Given the description of an element on the screen output the (x, y) to click on. 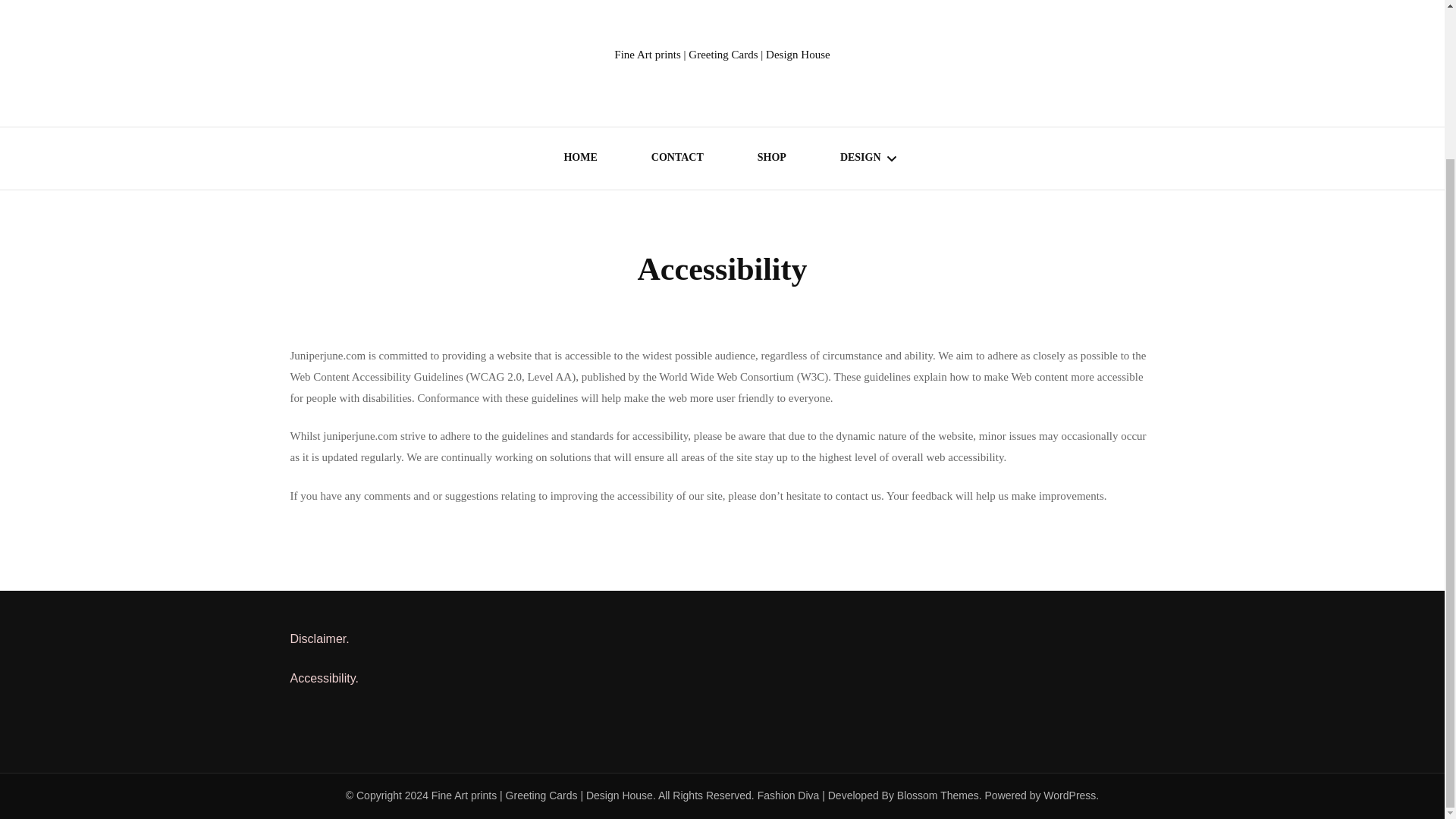
juniperjune.com (360, 435)
Disclaimer. (319, 638)
DESIGN (860, 159)
contact us. (860, 495)
SHOP (771, 159)
HOME (579, 159)
Accessibility. (323, 677)
Blossom Themes (937, 795)
WordPress (1069, 795)
CONTACT (676, 159)
